Given the description of an element on the screen output the (x, y) to click on. 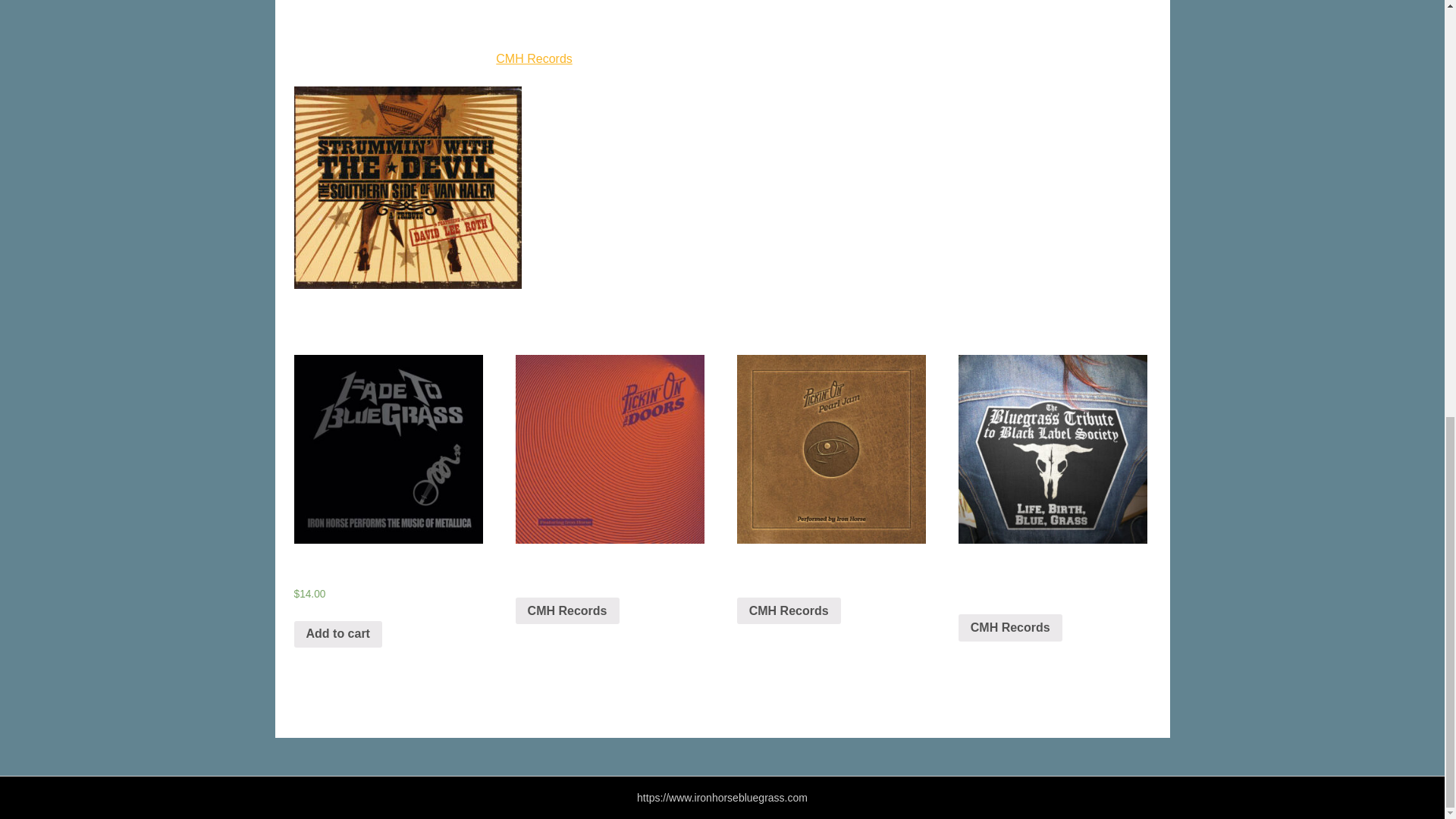
CMH Records (788, 610)
CMH Records (567, 610)
Add to cart (337, 634)
CMH Records (1010, 627)
CMH Records (534, 58)
